Given the description of an element on the screen output the (x, y) to click on. 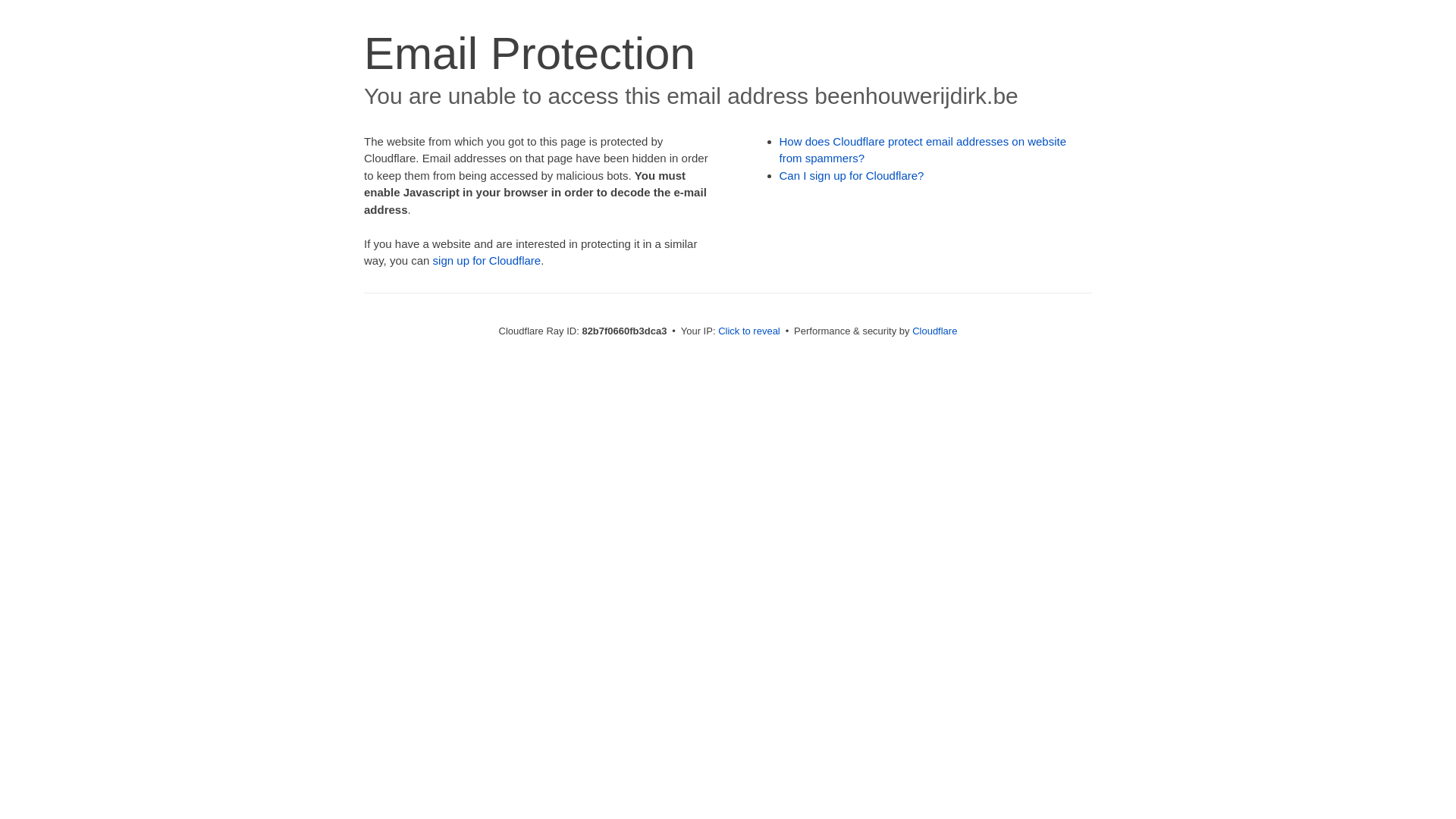
Click to reveal Element type: text (749, 330)
Can I sign up for Cloudflare? Element type: text (851, 175)
sign up for Cloudflare Element type: text (487, 260)
Cloudflare Element type: text (934, 330)
